Given the description of an element on the screen output the (x, y) to click on. 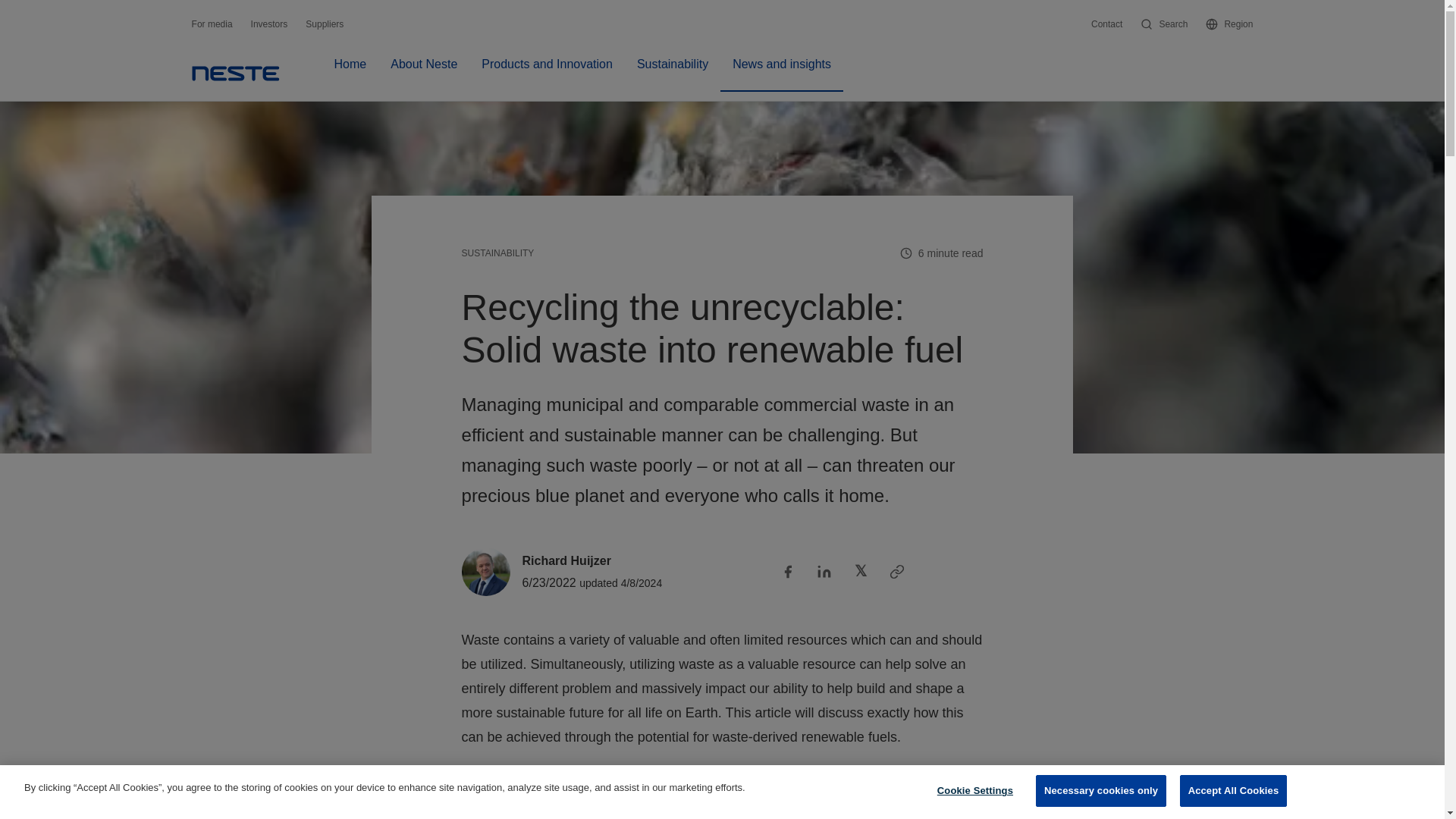
Facebook (787, 571)
News and insights (781, 73)
Products and Innovation (546, 73)
LinkedIn (823, 571)
Region (1228, 24)
Search (1164, 24)
Copy link (896, 571)
About Neste (423, 73)
X (860, 571)
Search (1164, 24)
For media (212, 24)
Region (1228, 24)
Home (235, 73)
Home (349, 73)
Contact (1106, 24)
